Given the description of an element on the screen output the (x, y) to click on. 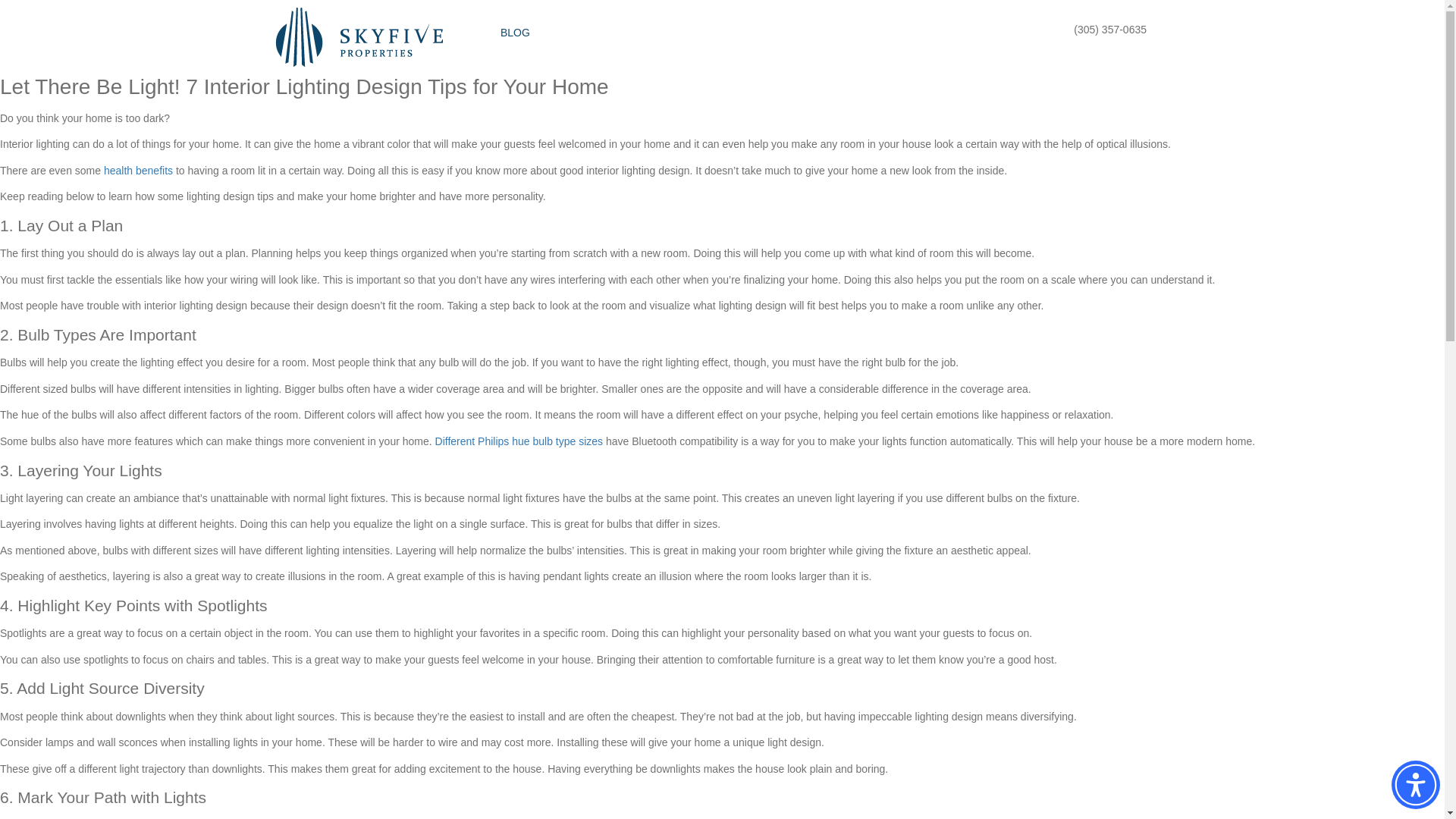
Accessibility Menu (1415, 784)
health benefits (138, 170)
BLOG (515, 32)
Different Philips hue bulb type sizes (519, 440)
